Given the description of an element on the screen output the (x, y) to click on. 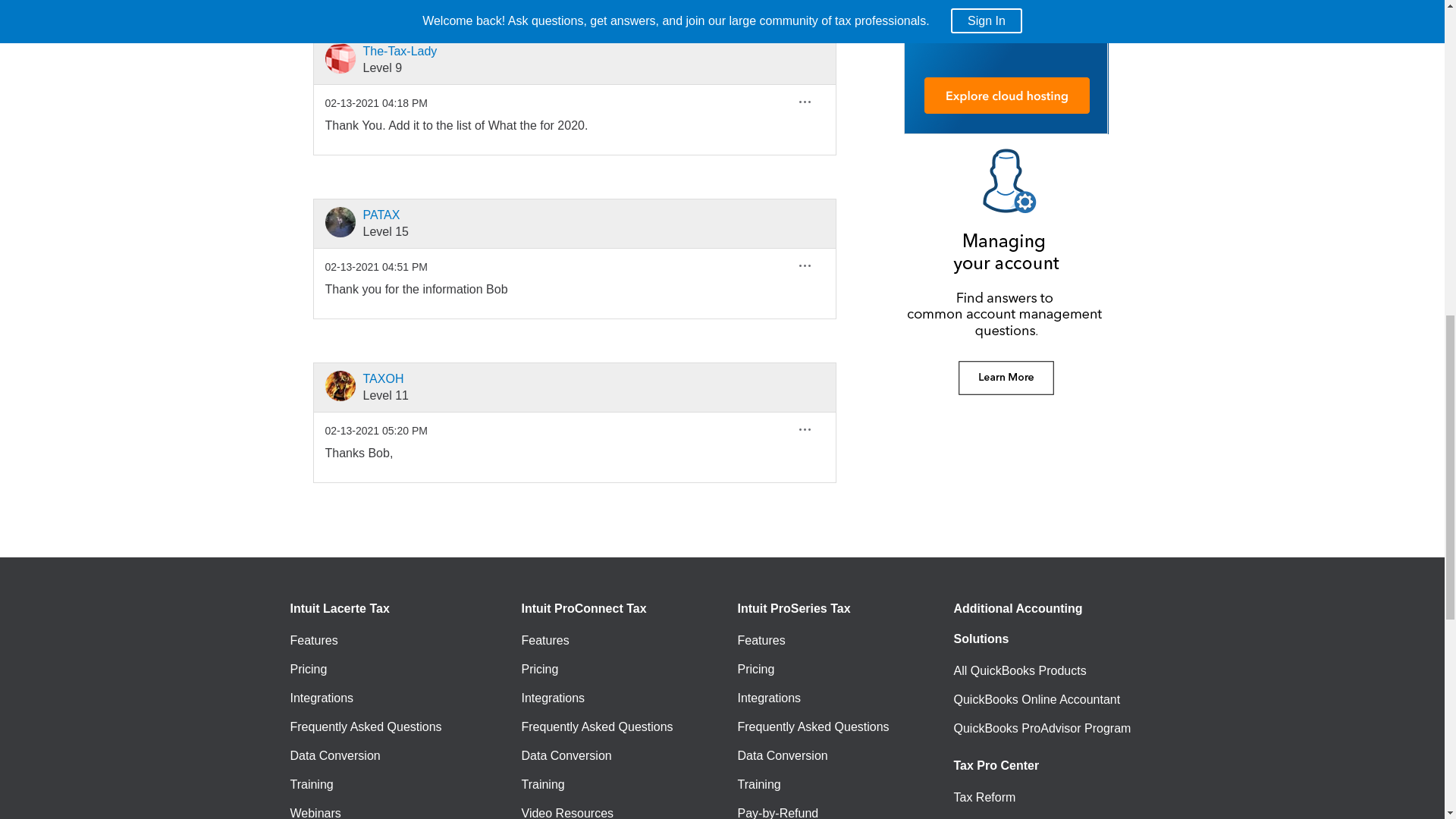
fast path expired (778, 7)
ProSeries Tax Discussions (538, 7)
The-Tax-Lady (339, 58)
Posted on (375, 102)
Can't print Client  Specific Letters (654, 7)
